Given the description of an element on the screen output the (x, y) to click on. 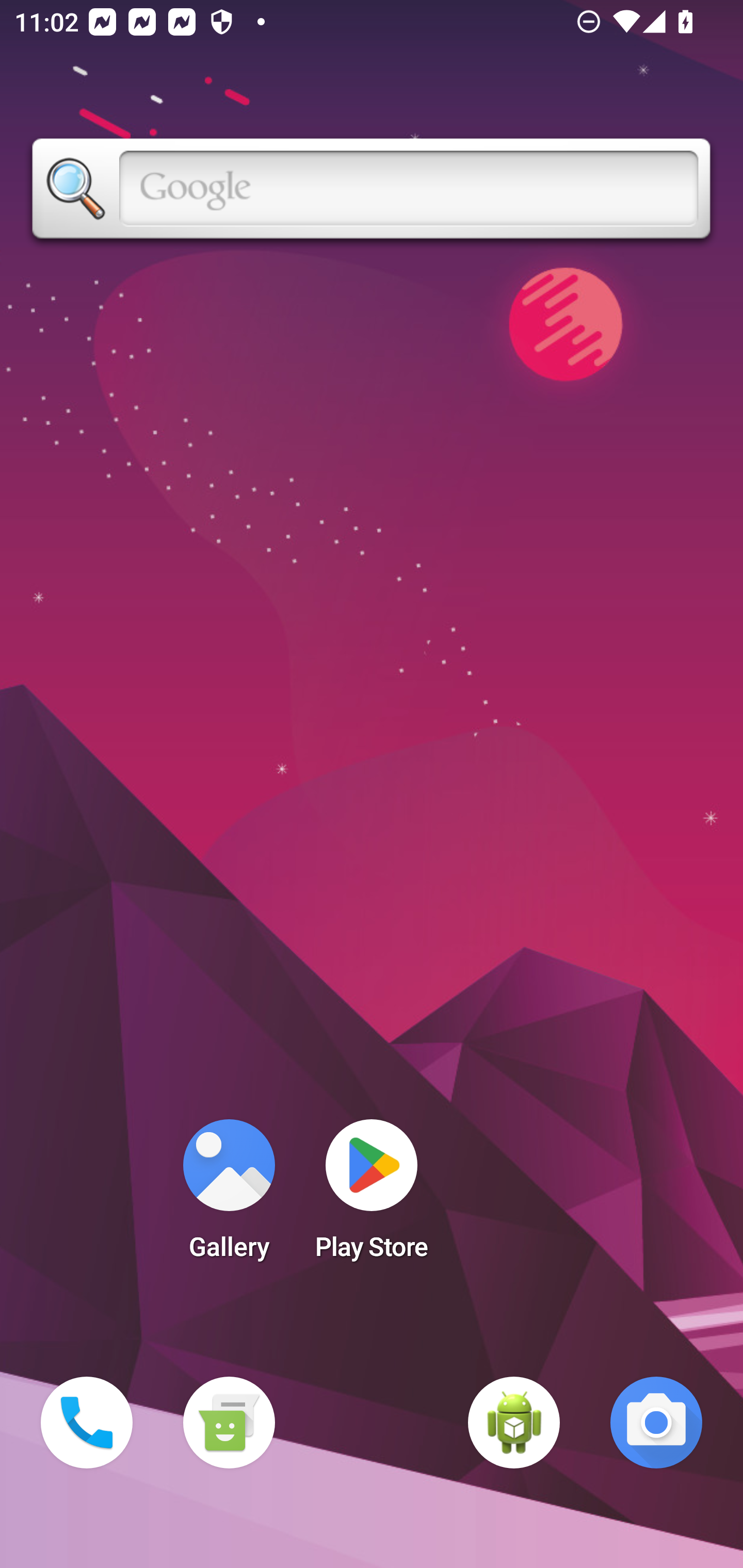
Gallery (228, 1195)
Play Store (371, 1195)
Phone (86, 1422)
Messaging (228, 1422)
WebView Browser Tester (513, 1422)
Camera (656, 1422)
